Given the description of an element on the screen output the (x, y) to click on. 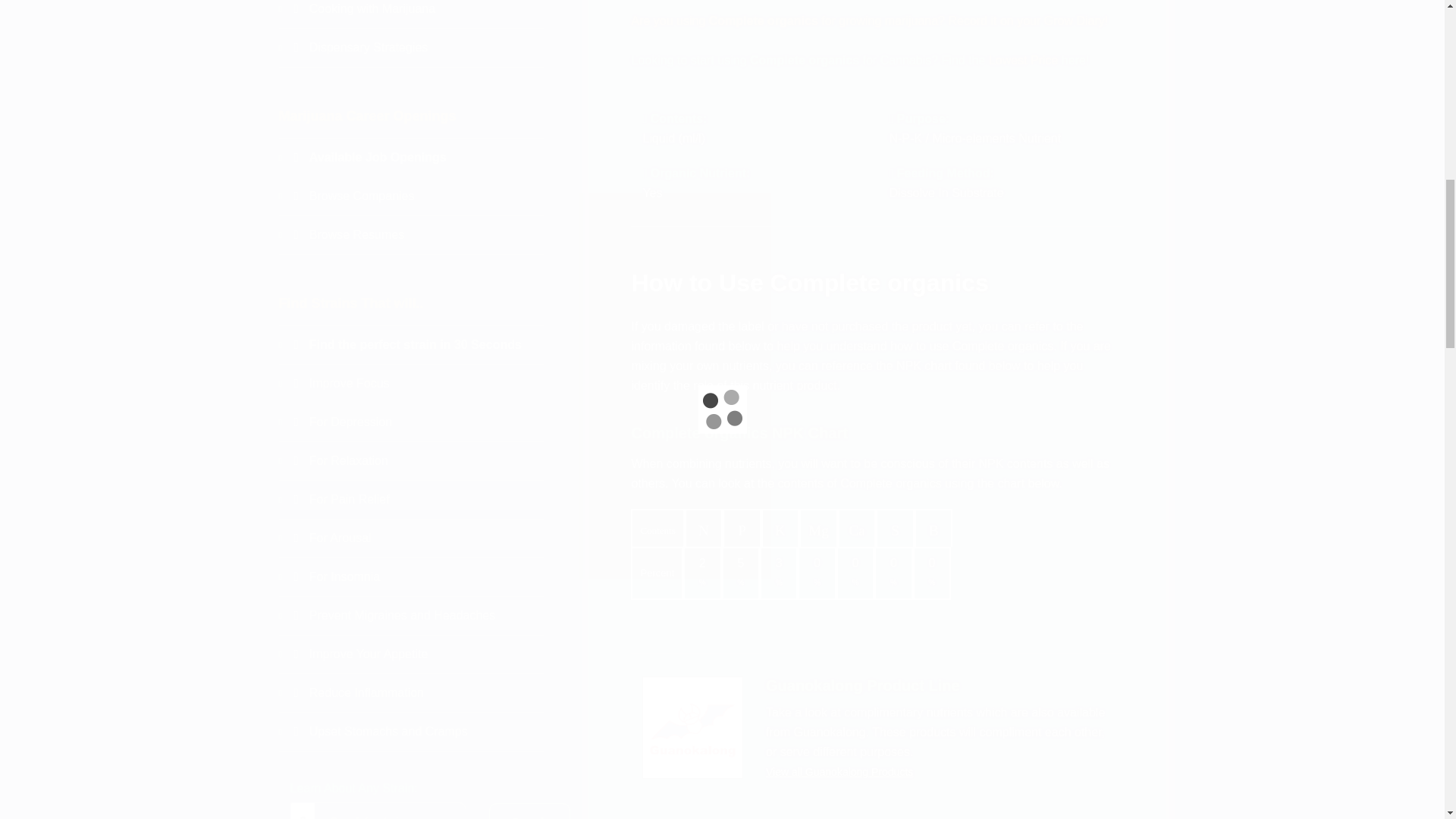
Search (529, 811)
